Given the description of an element on the screen output the (x, y) to click on. 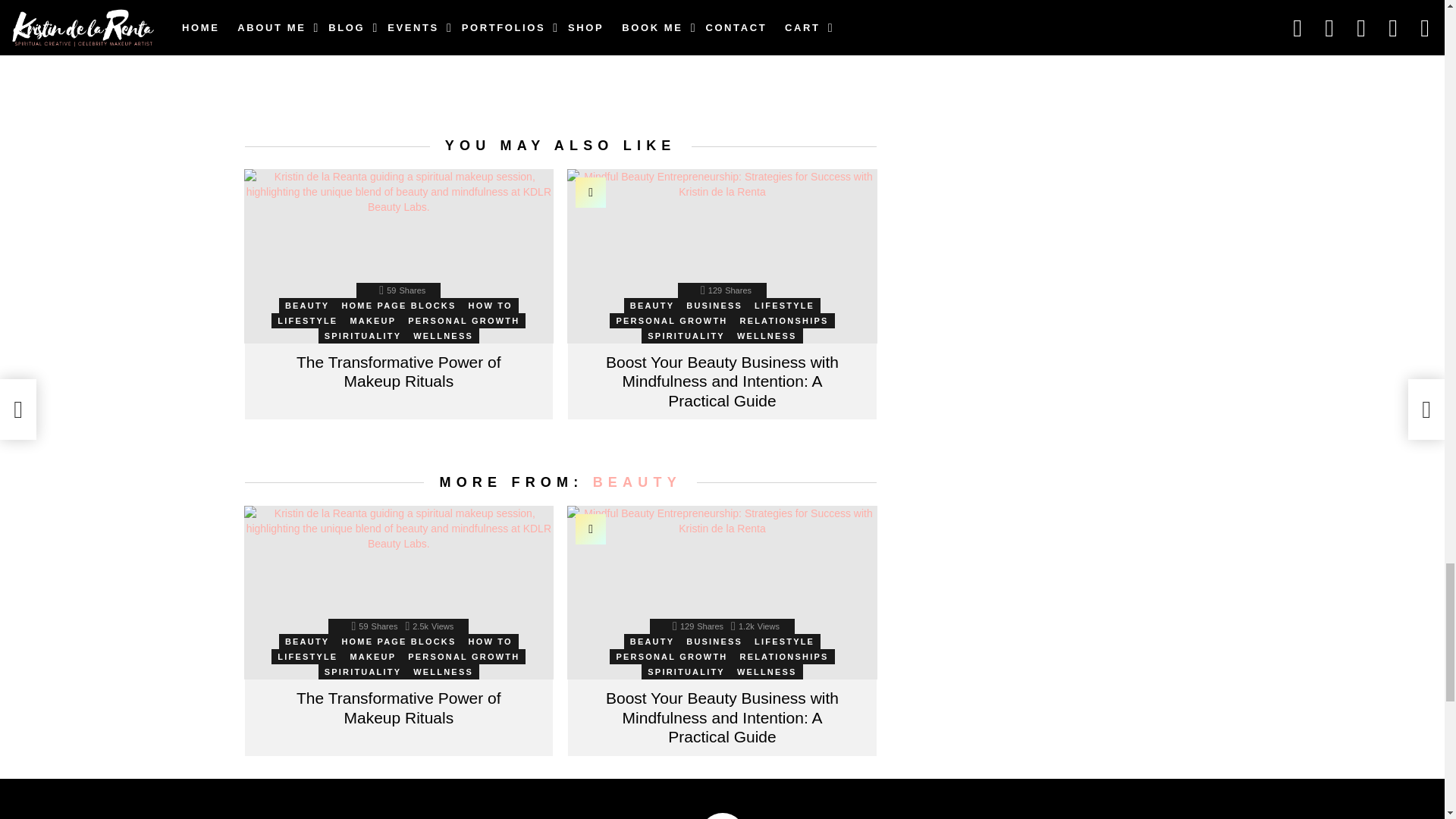
Trending (590, 529)
The Transformative Power of Makeup Rituals (399, 255)
Trending (590, 192)
The Transformative Power of Makeup Rituals (399, 593)
